Given the description of an element on the screen output the (x, y) to click on. 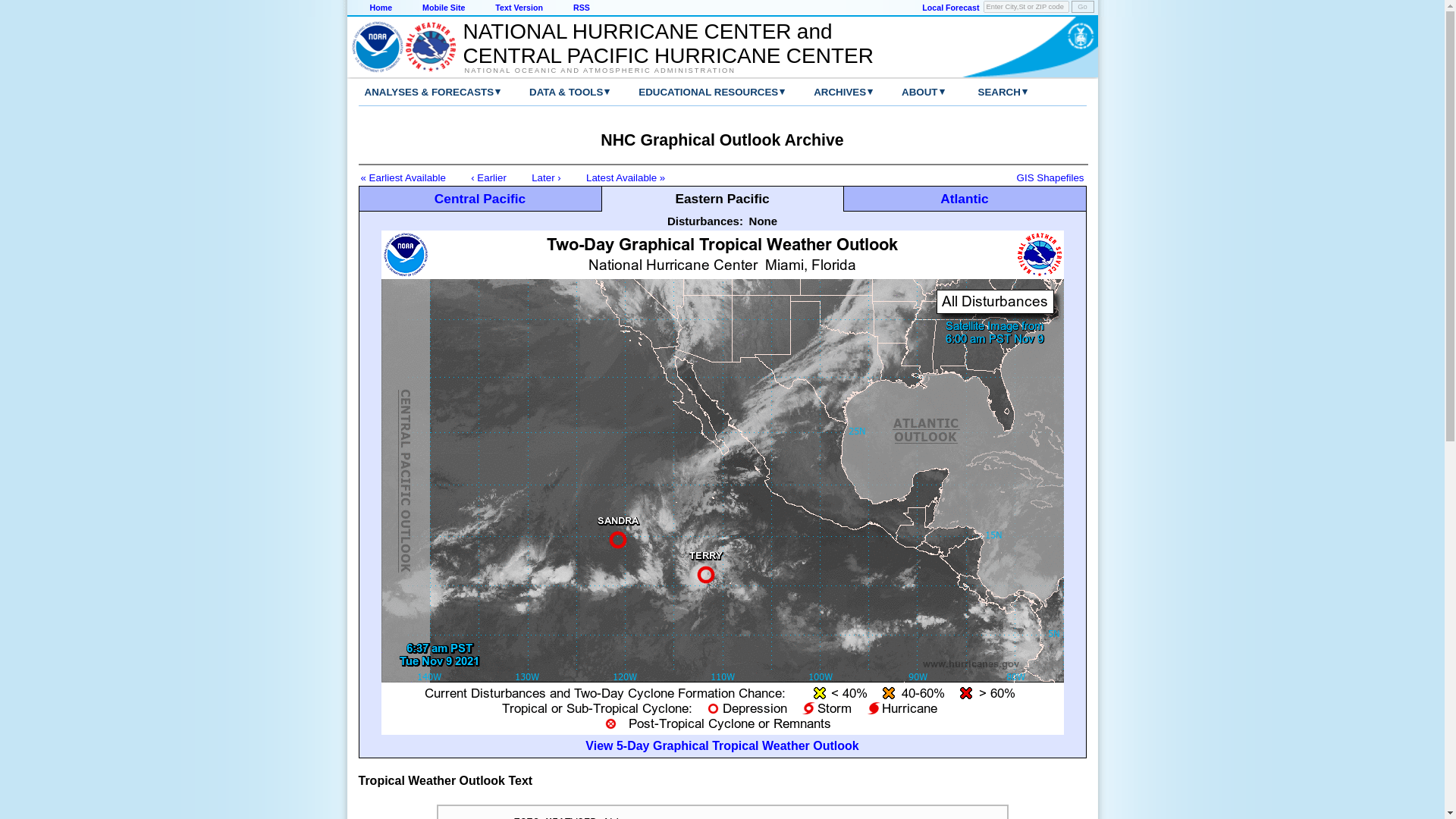
Mobile Site (443, 7)
Local Forecast (949, 7)
EDUCATIONAL RESOURCES (696, 91)
Enter City,St or ZIP code (1026, 6)
Go (1081, 6)
Go (1081, 6)
RSS (581, 7)
Home (381, 7)
Text Version (519, 7)
NATIONAL OCEANIC AND ATMOSPHERIC ADMINISTRATION (659, 70)
